Given the description of an element on the screen output the (x, y) to click on. 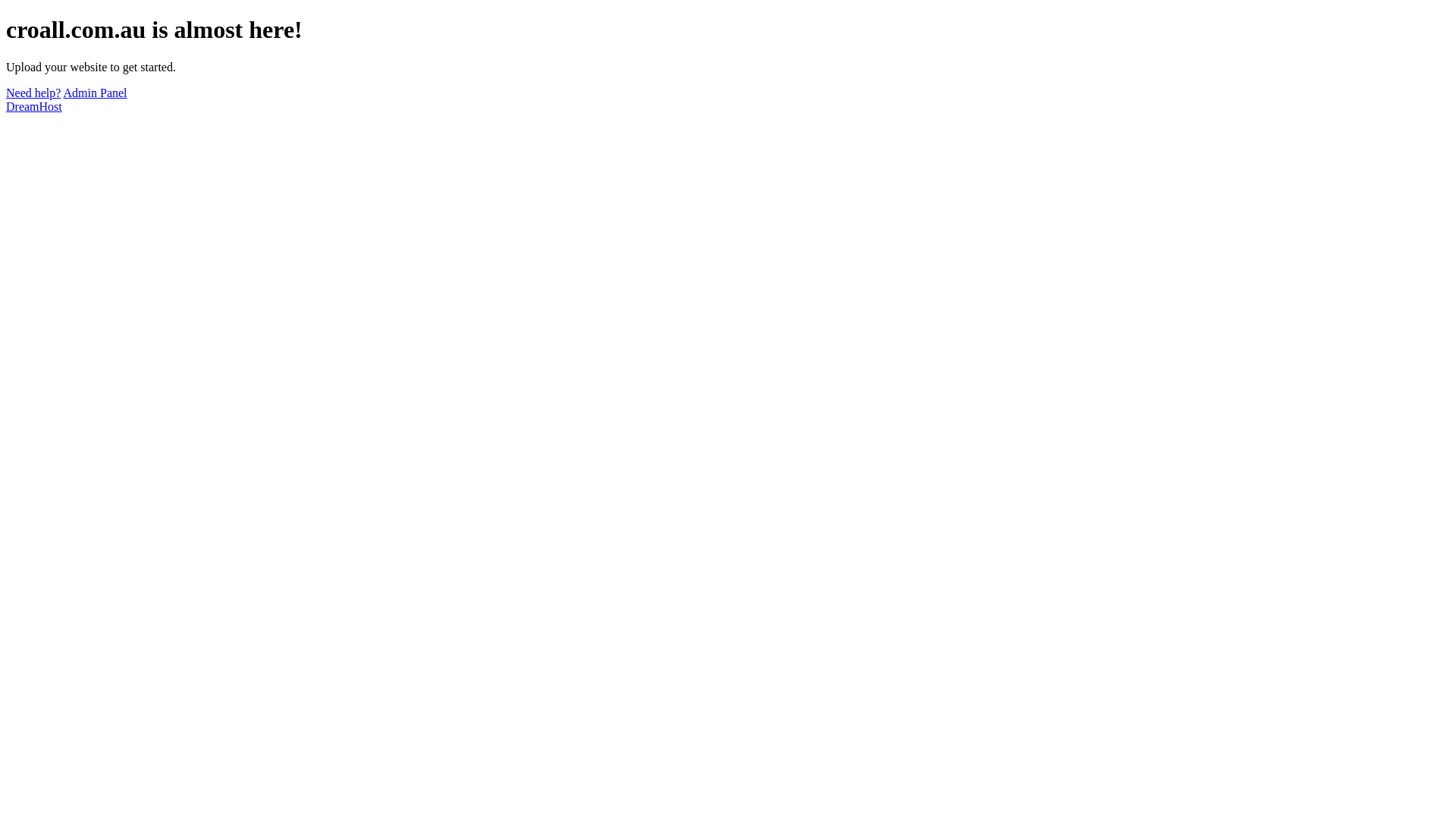
DreamHost Element type: text (34, 106)
Need help? Element type: text (33, 92)
Admin Panel Element type: text (95, 92)
